Given the description of an element on the screen output the (x, y) to click on. 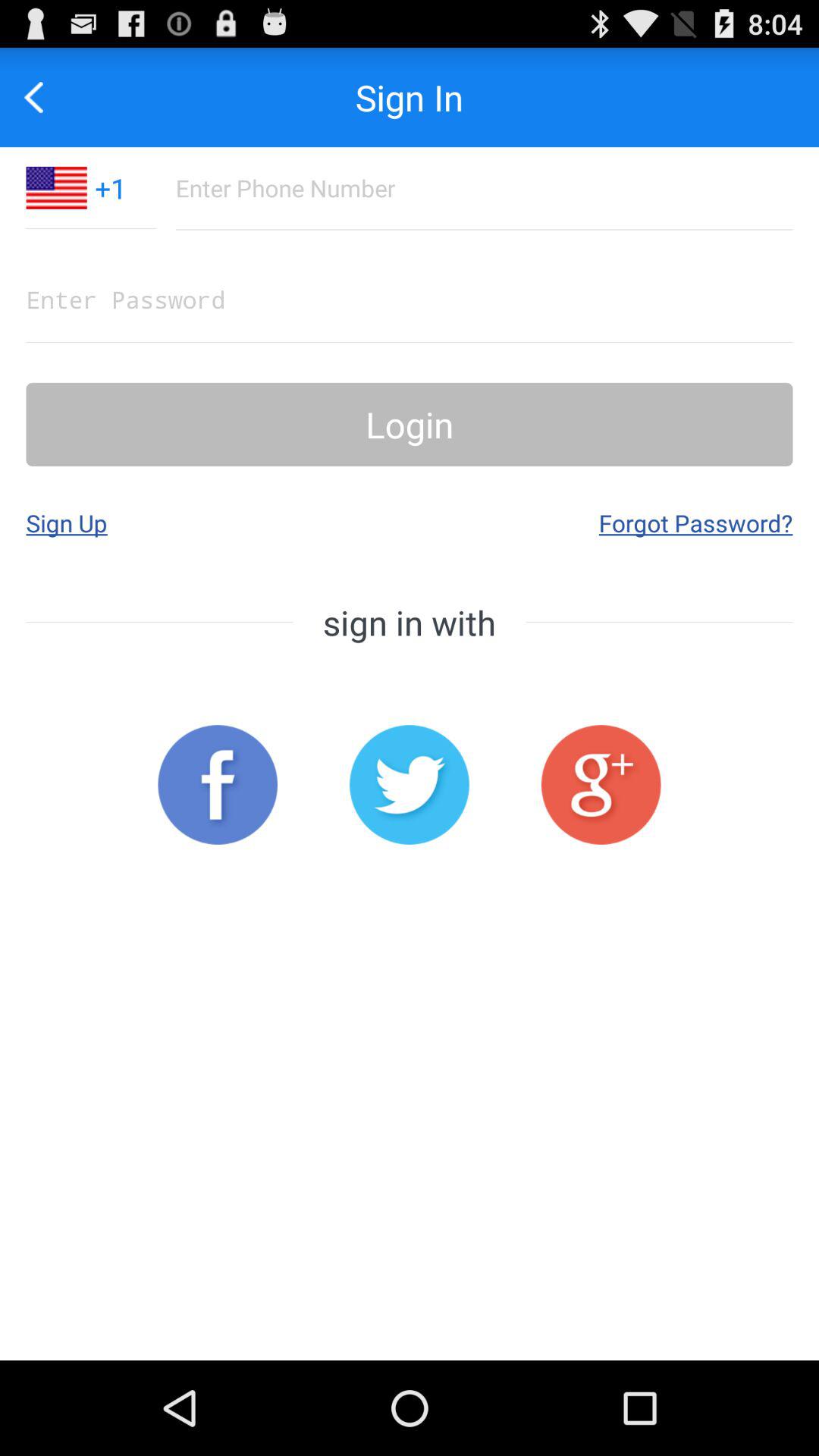
select button below login icon (695, 522)
